Given the description of an element on the screen output the (x, y) to click on. 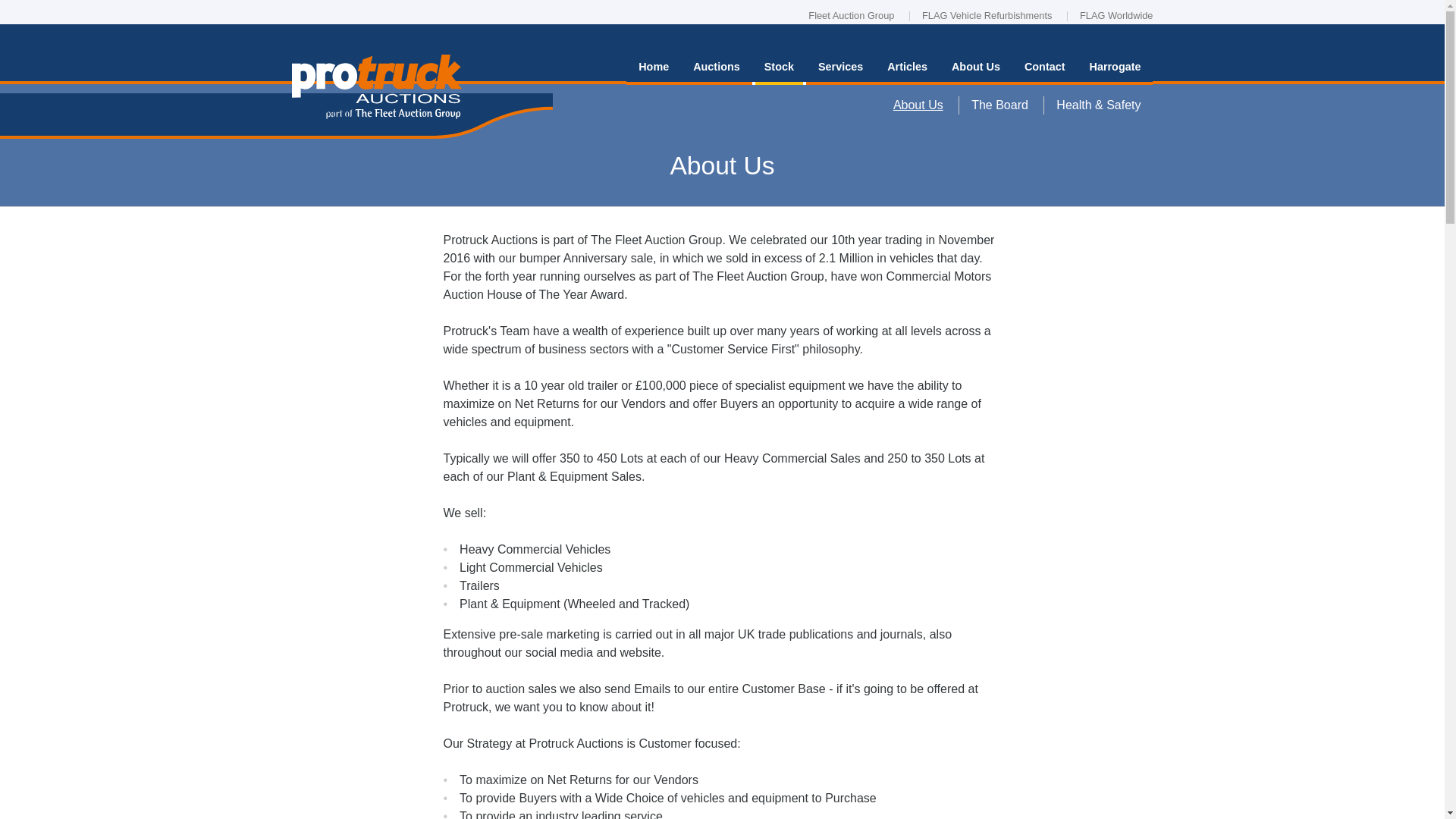
Articles (907, 69)
About Us (917, 105)
Contact (1044, 69)
Harrogate (1115, 69)
Home (653, 69)
Auctions (716, 69)
FLAG Worldwide (1116, 16)
About Us (975, 69)
The Board (1000, 105)
Fleet Auction Group (850, 16)
FLAG Vehicle Refurbishments (986, 16)
Services (840, 69)
Stock (779, 69)
